Given the description of an element on the screen output the (x, y) to click on. 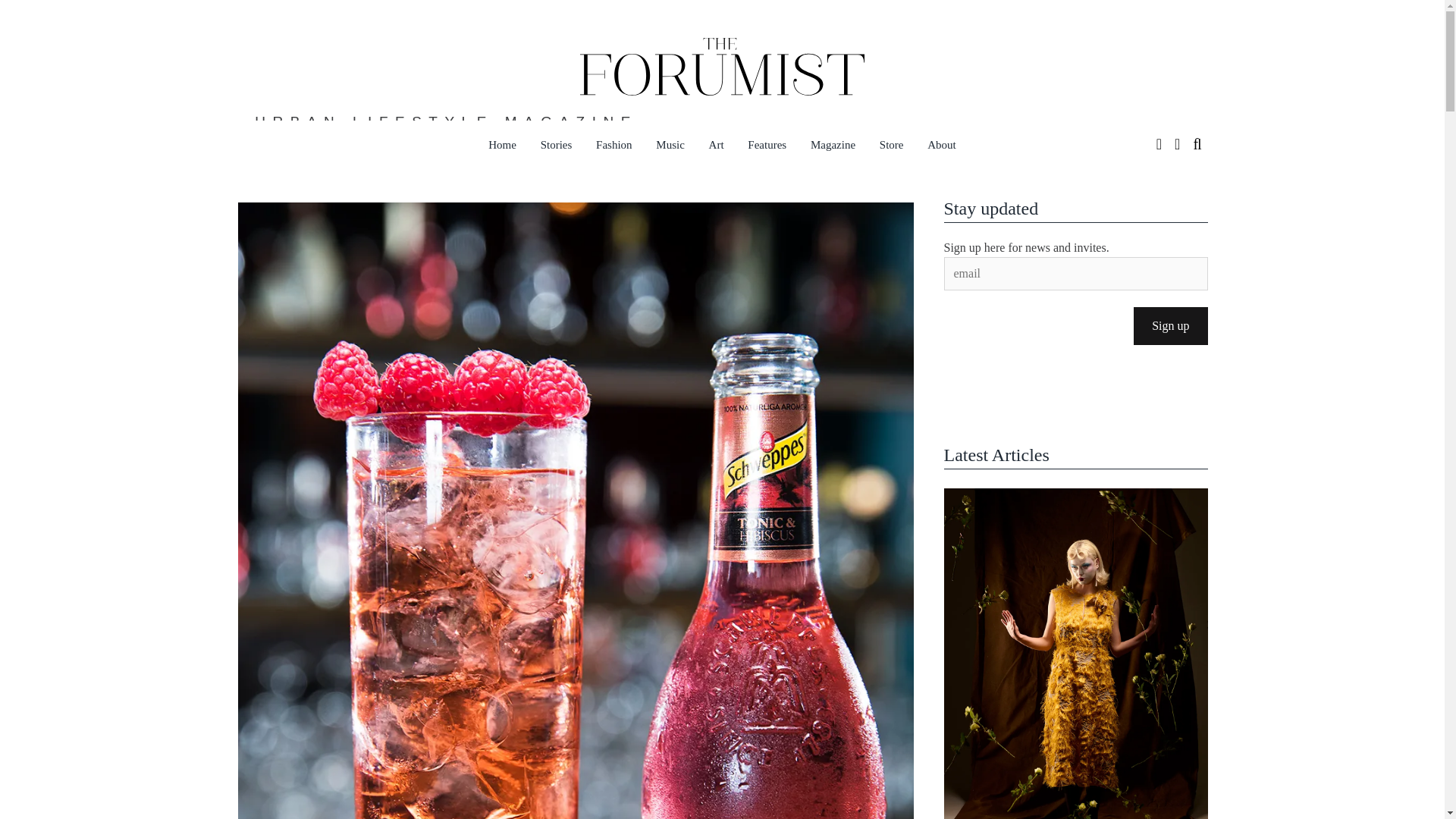
THE FORUMIST (682, 169)
Music (670, 144)
Store (891, 144)
About (941, 144)
Fashion (614, 144)
Art (716, 144)
Magazine (832, 144)
Features (766, 144)
Sign up (1170, 325)
Sign up (1170, 325)
Stories (556, 144)
Home (502, 144)
